Given the description of an element on the screen output the (x, y) to click on. 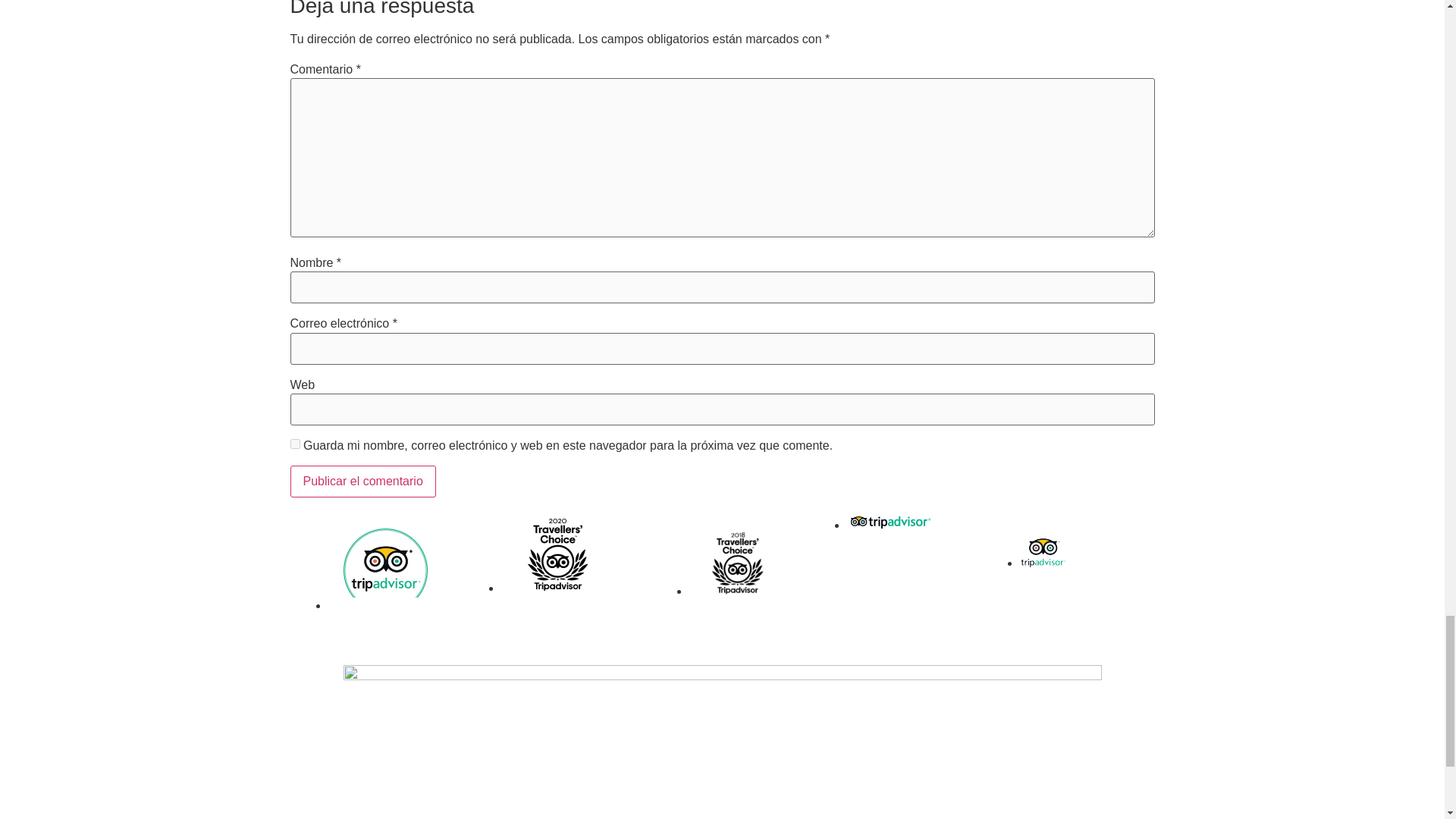
Publicar el comentario (362, 481)
Publicar el comentario (362, 481)
yes (294, 443)
